Given the description of an element on the screen output the (x, y) to click on. 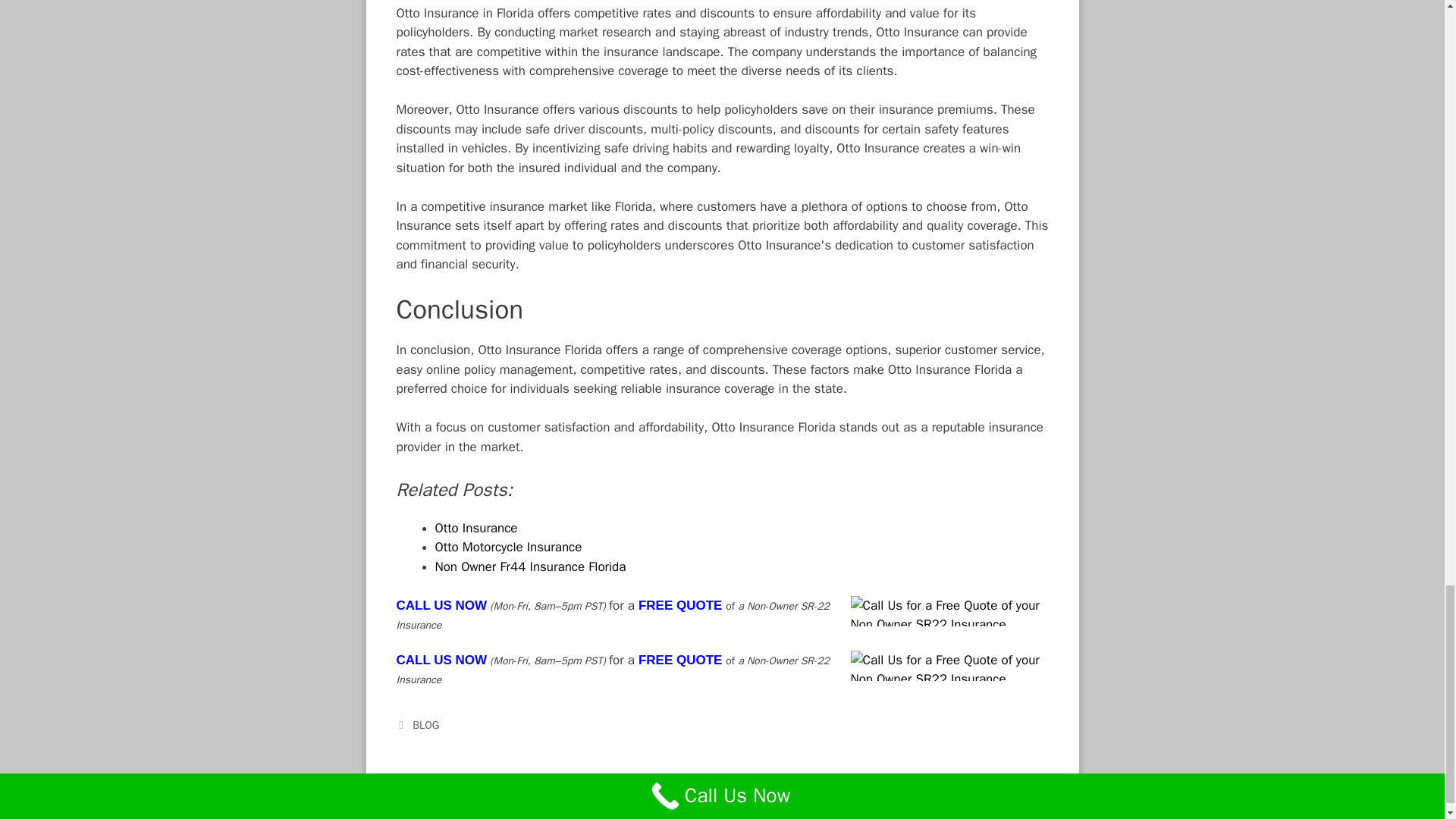
Non Owner Fr44 Insurance Florida (530, 566)
Non Owner SR22 Insurance (715, 809)
Otto Motorcycle Insurance (508, 546)
CALL US NOW (441, 659)
CALL US NOW (441, 605)
BLOG (425, 725)
Call Us for a Free Quote of your Non Owners SR22 (949, 665)
Call Us for a Free Quote of your Non Owners SR22 (949, 611)
Otto Insurance (476, 528)
